Given the description of an element on the screen output the (x, y) to click on. 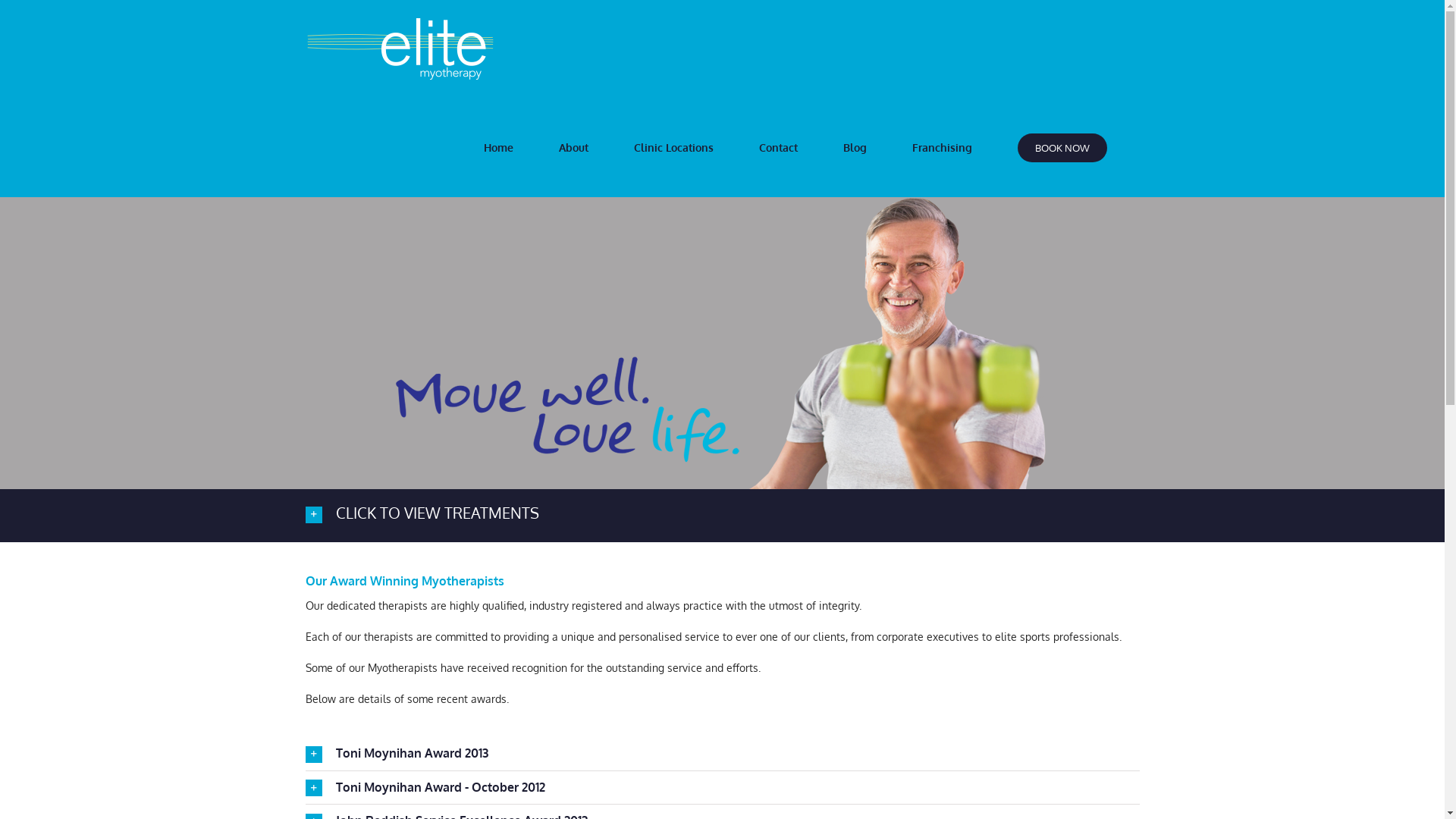
Franchising Element type: text (942, 147)
Contact Element type: text (778, 147)
Toni Moynihan Award - October 2012 Element type: text (721, 787)
Blog Element type: text (854, 147)
Home Element type: text (498, 147)
Toni Moynihan Award 2013 Element type: text (721, 753)
BOOK NOW Element type: text (1062, 147)
Clinic Locations Element type: text (673, 147)
CLICK TO VIEW TREATMENTS Element type: text (721, 513)
About Element type: text (574, 147)
